Given the description of an element on the screen output the (x, y) to click on. 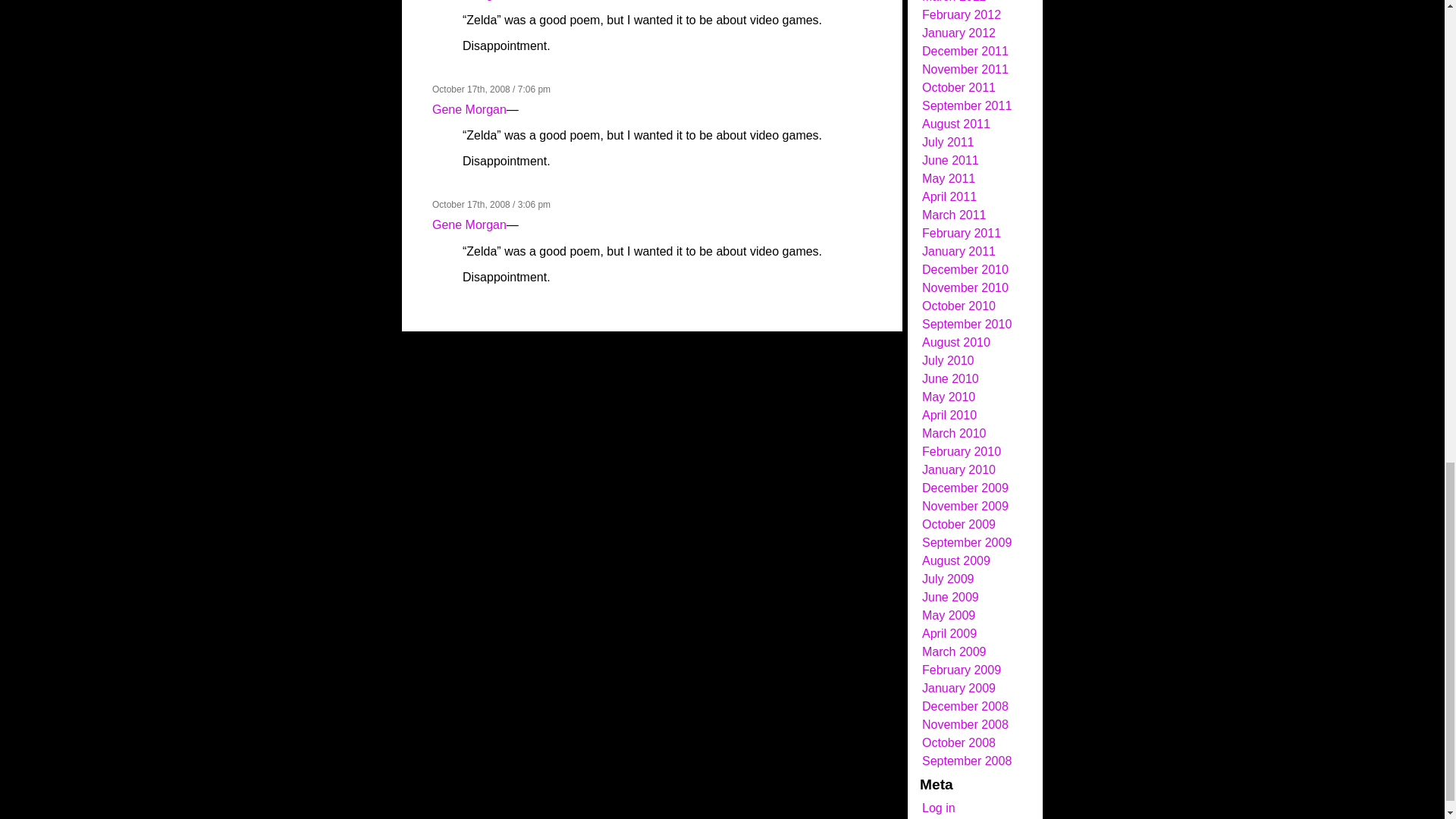
Gene Morgan (469, 109)
Gene Morgan (469, 224)
